Given the description of an element on the screen output the (x, y) to click on. 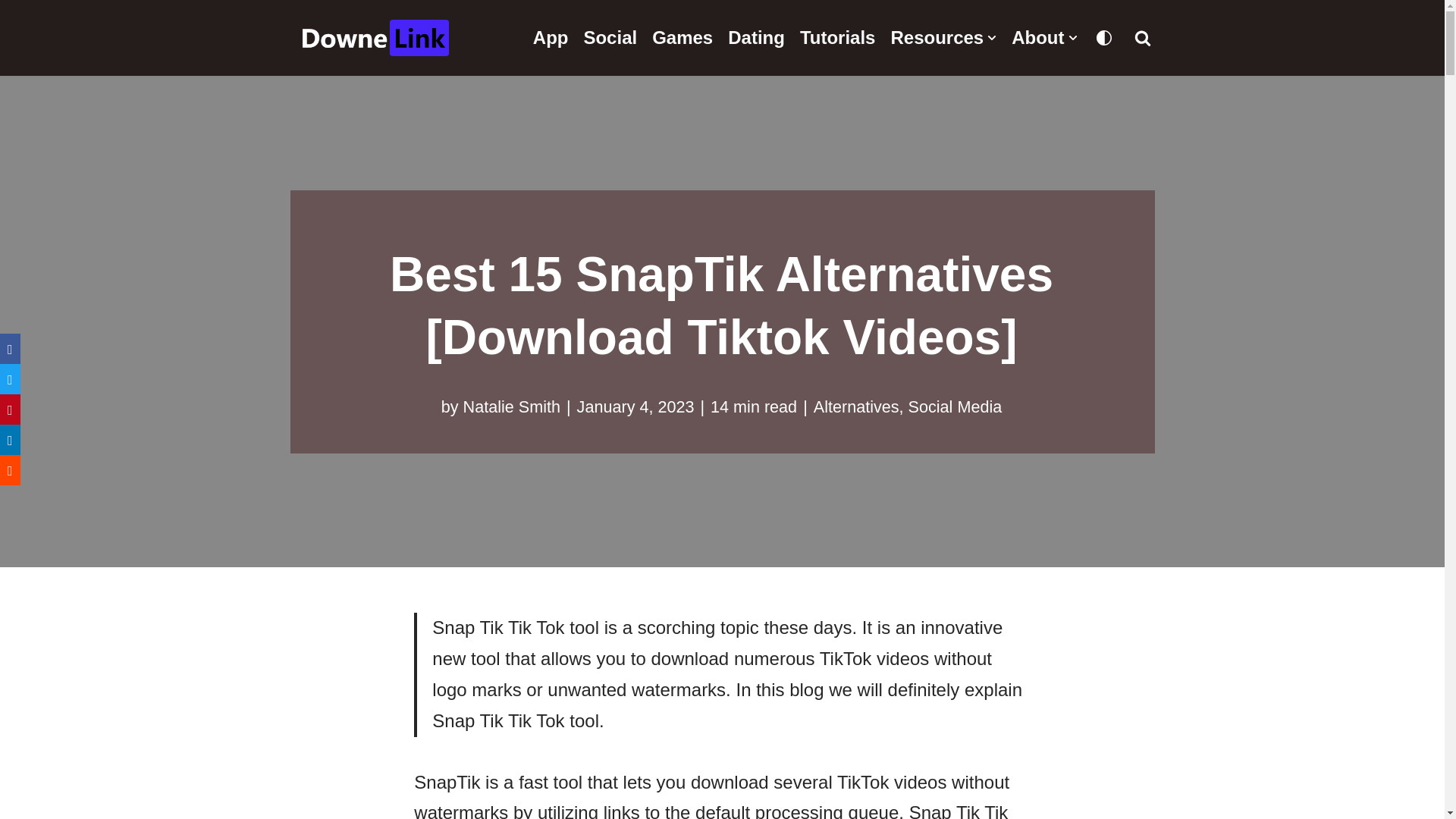
Resources (942, 37)
Posts by Natalie Smith (511, 406)
Dating (756, 37)
App (550, 37)
Social Media (955, 406)
DowneLink (376, 37)
Alternatives (856, 406)
About (1044, 37)
Social (610, 37)
Natalie Smith (511, 406)
